Given the description of an element on the screen output the (x, y) to click on. 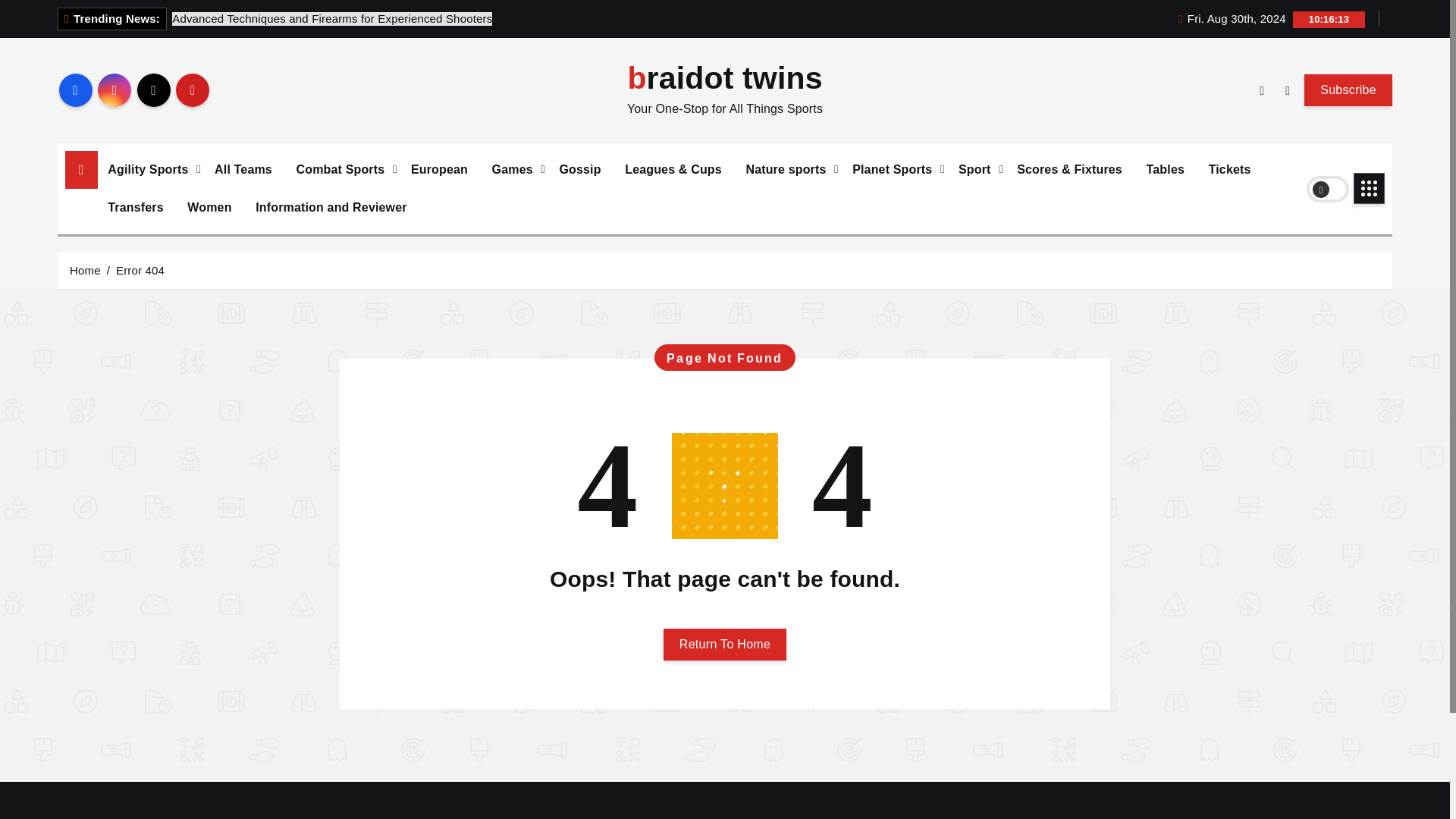
Agility Sports (148, 169)
All Teams (243, 169)
Subscribe (1347, 90)
braidot twins (724, 78)
Combat Sports (341, 169)
All Teams (243, 169)
Agility Sports (148, 169)
